Given the description of an element on the screen output the (x, y) to click on. 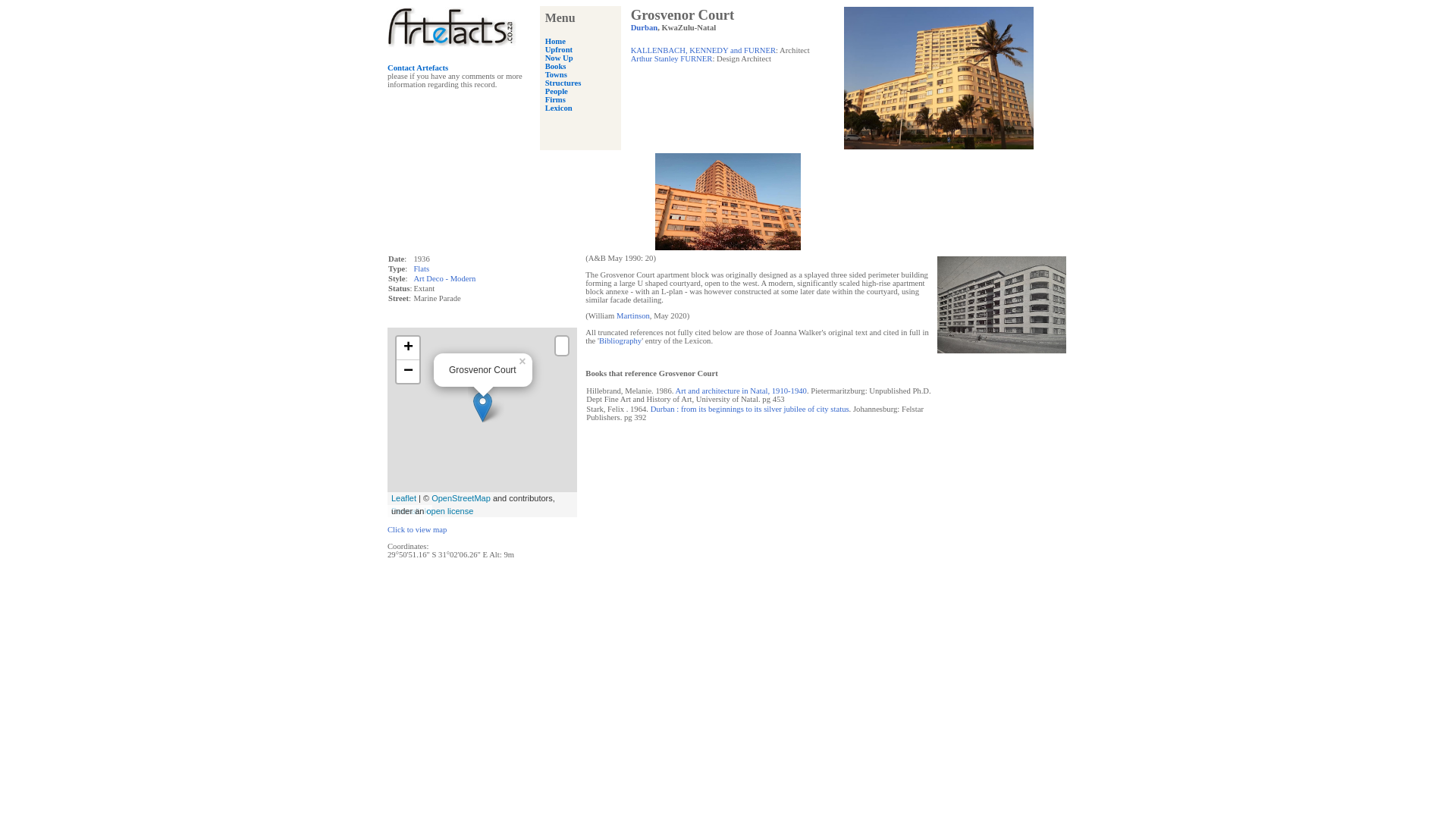
Firms (555, 99)
KALLENBACH, KENNEDY and FURNER (703, 49)
Arthur Stanley FURNER (671, 58)
Art and architecture in Natal, 1910-1940 (740, 390)
Martinson (632, 316)
Leaflet (403, 497)
Now Up (558, 58)
Bibliography (620, 340)
Art Deco - Modern (444, 278)
Upfront (558, 49)
